Given the description of an element on the screen output the (x, y) to click on. 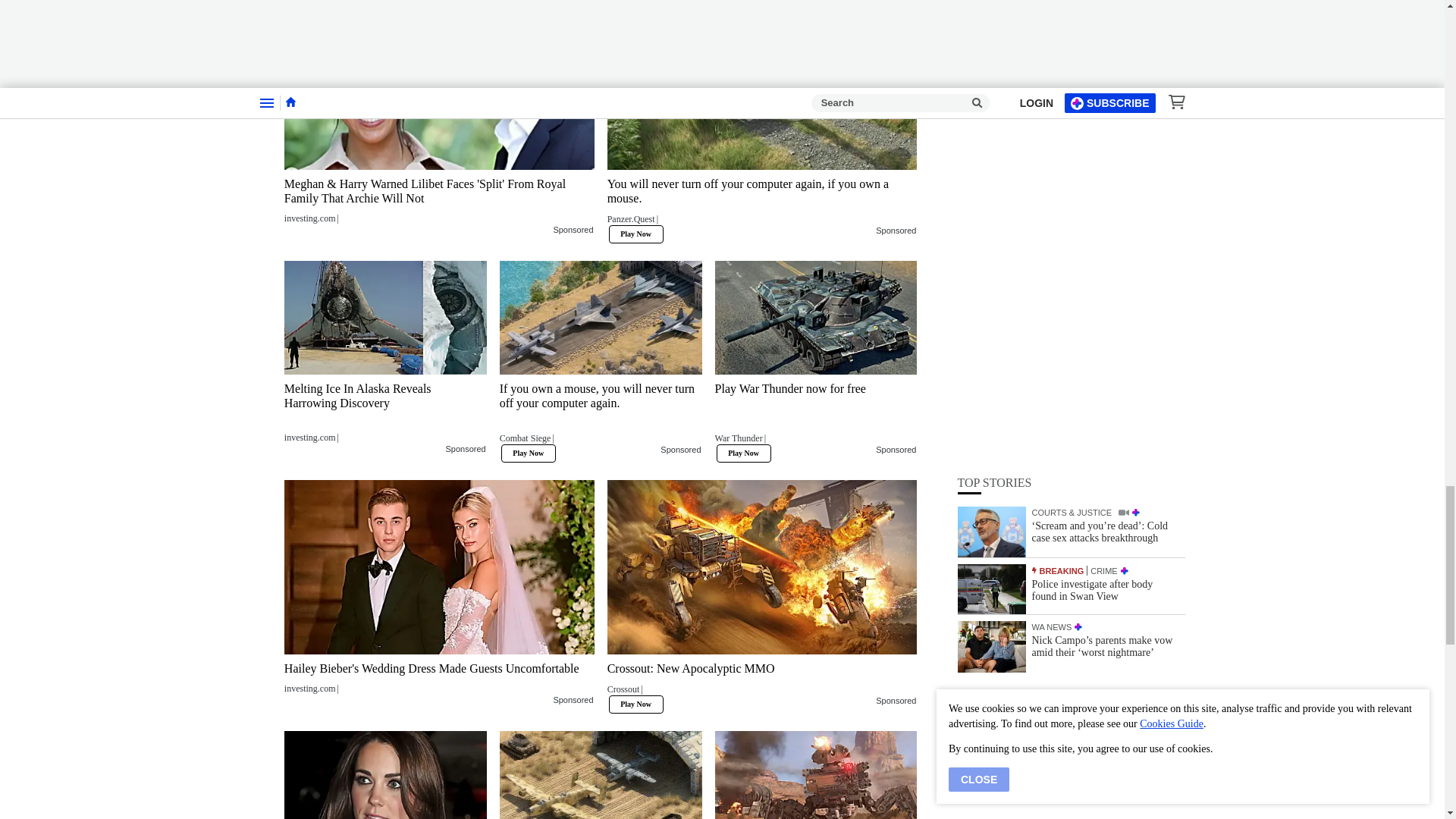
Melting Ice In Alaska Reveals Harrowing Discovery (384, 412)
Melting Ice In Alaska Reveals Harrowing Discovery (384, 317)
